Given the description of an element on the screen output the (x, y) to click on. 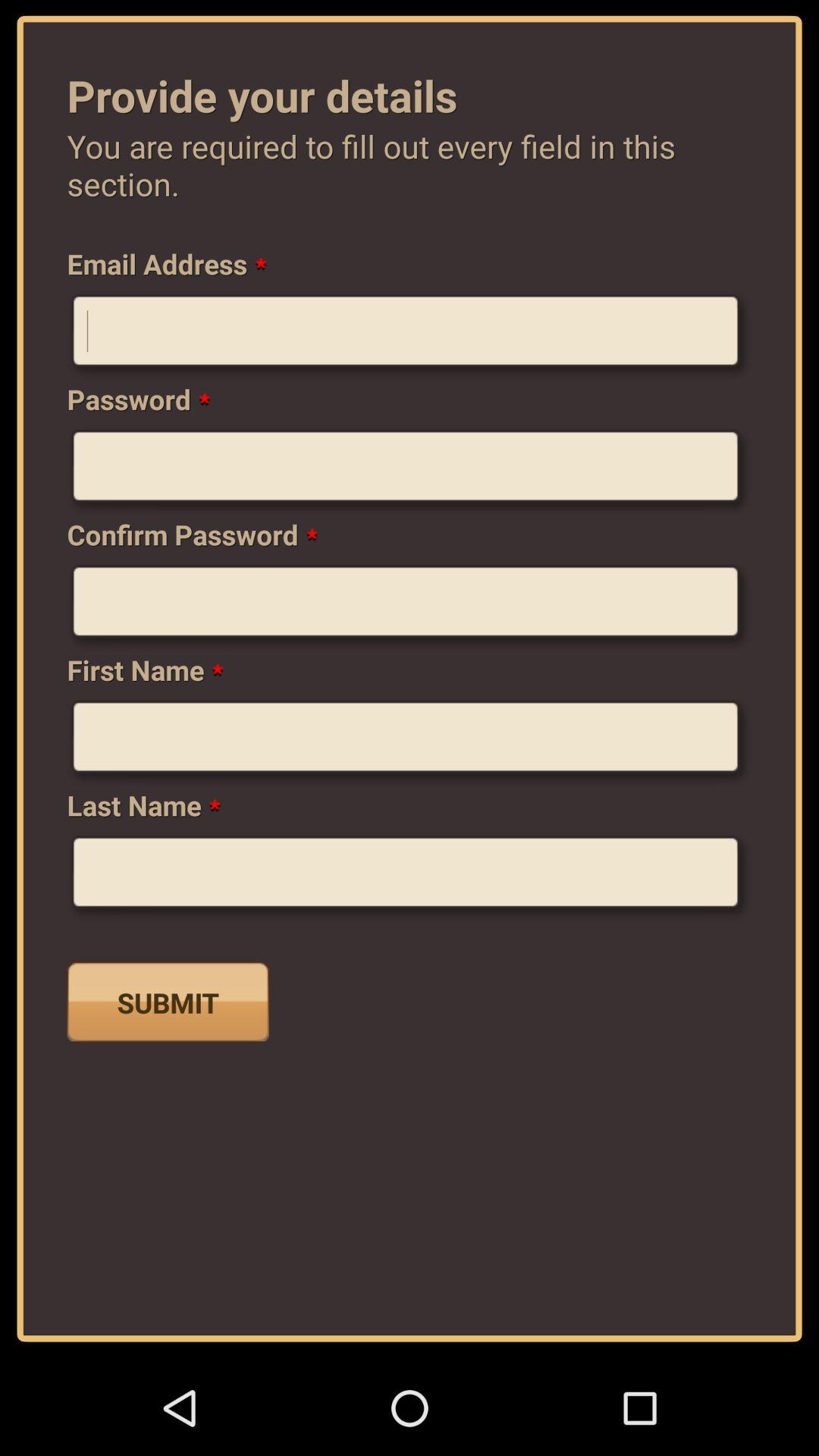
enter password in the box (409, 471)
